Given the description of an element on the screen output the (x, y) to click on. 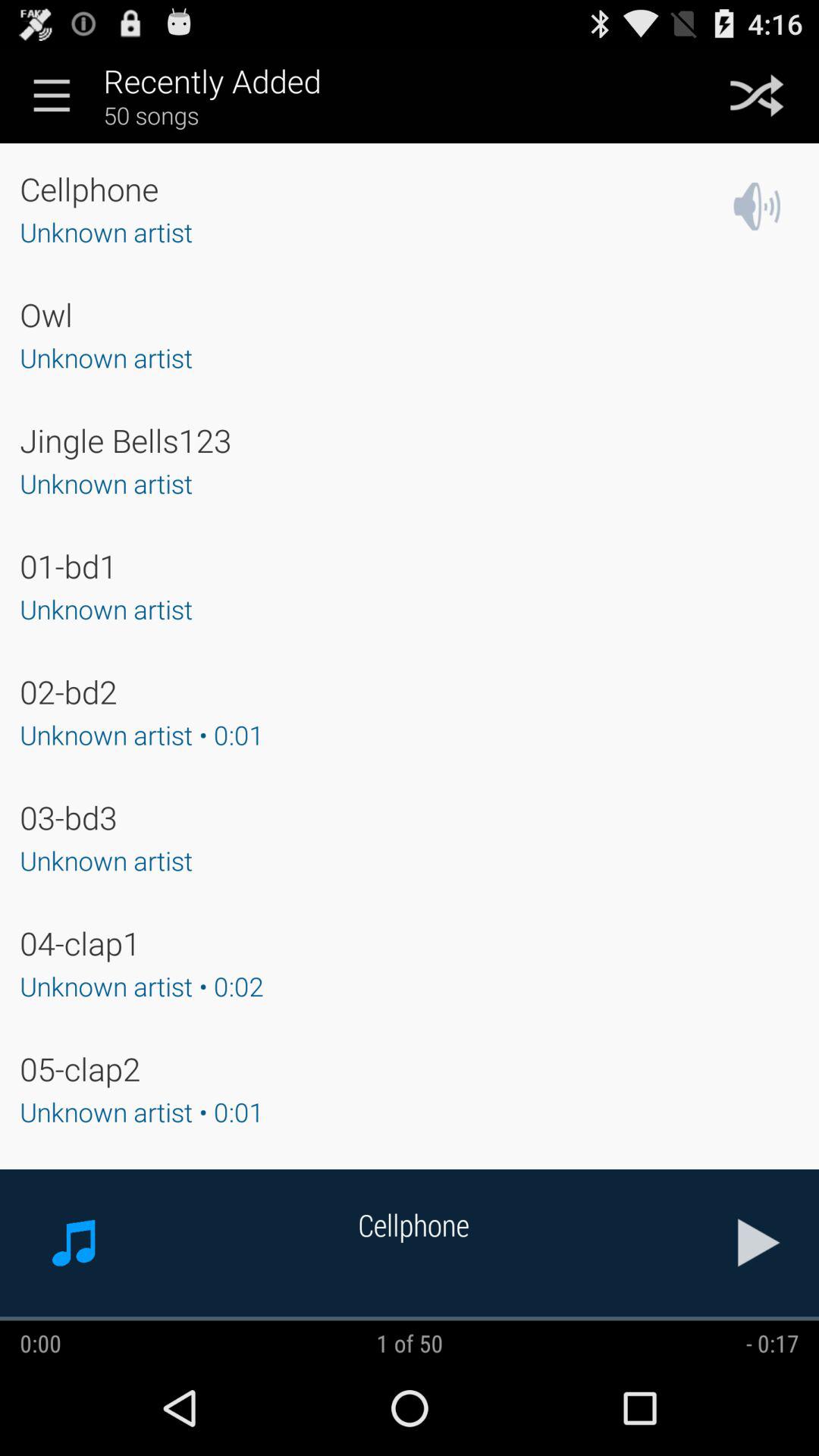
click the music icon (73, 1243)
click the menu icon (51, 95)
